Given the description of an element on the screen output the (x, y) to click on. 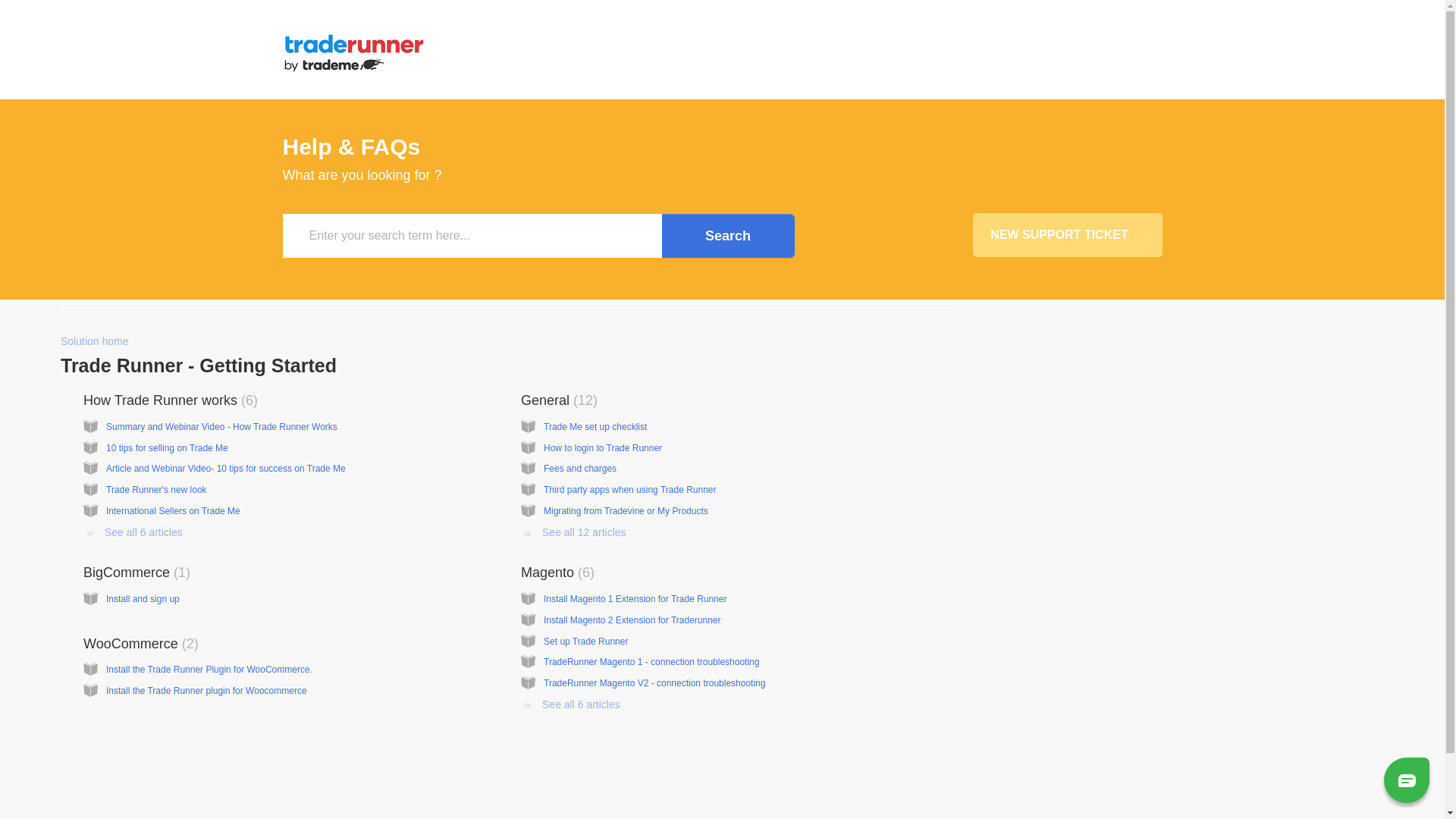
See all 12 articles Element type: text (573, 532)
Third party apps when using Trade Runner Element type: text (629, 489)
Trade Runner's new look Element type: text (156, 489)
See all 6 articles Element type: text (132, 532)
How to login to Trade Runner Element type: text (602, 447)
TradeRunner Magento V2 - connection troubleshooting Element type: text (654, 682)
How Trade Runner works 6 Element type: text (170, 399)
WooCommerce 2 Element type: text (140, 643)
Install the Trade Runner plugin for Woocommerce Element type: text (206, 690)
Trade Me set up checklist Element type: text (594, 426)
International Sellers on Trade Me Element type: text (173, 510)
See all 6 articles Element type: text (570, 704)
Magento 6 Element type: text (557, 572)
Install the Trade Runner Plugin for WooCommerce. Element type: text (209, 669)
Install and sign up Element type: text (142, 598)
TradeRunner Magento 1 - connection troubleshooting Element type: text (651, 661)
Install Magento 1 Extension for Trade Runner Element type: text (634, 598)
Fees and charges Element type: text (579, 468)
Set up Trade Runner Element type: text (585, 641)
BigCommerce 1 Element type: text (136, 572)
Summary and Webinar Video - How Trade Runner Works Element type: text (221, 426)
General 12 Element type: text (558, 399)
NEW SUPPORT TICKET Element type: text (1066, 235)
Article and Webinar Video- 10 tips for success on Trade Me Element type: text (225, 468)
Install Magento 2 Extension for Traderunner Element type: text (631, 620)
Solution home Element type: text (94, 341)
Chat Element type: hover (1406, 778)
Migrating from Tradevine or My Products Element type: text (625, 510)
10 tips for selling on Trade Me Element type: text (167, 447)
Search Element type: text (727, 235)
